Given the description of an element on the screen output the (x, y) to click on. 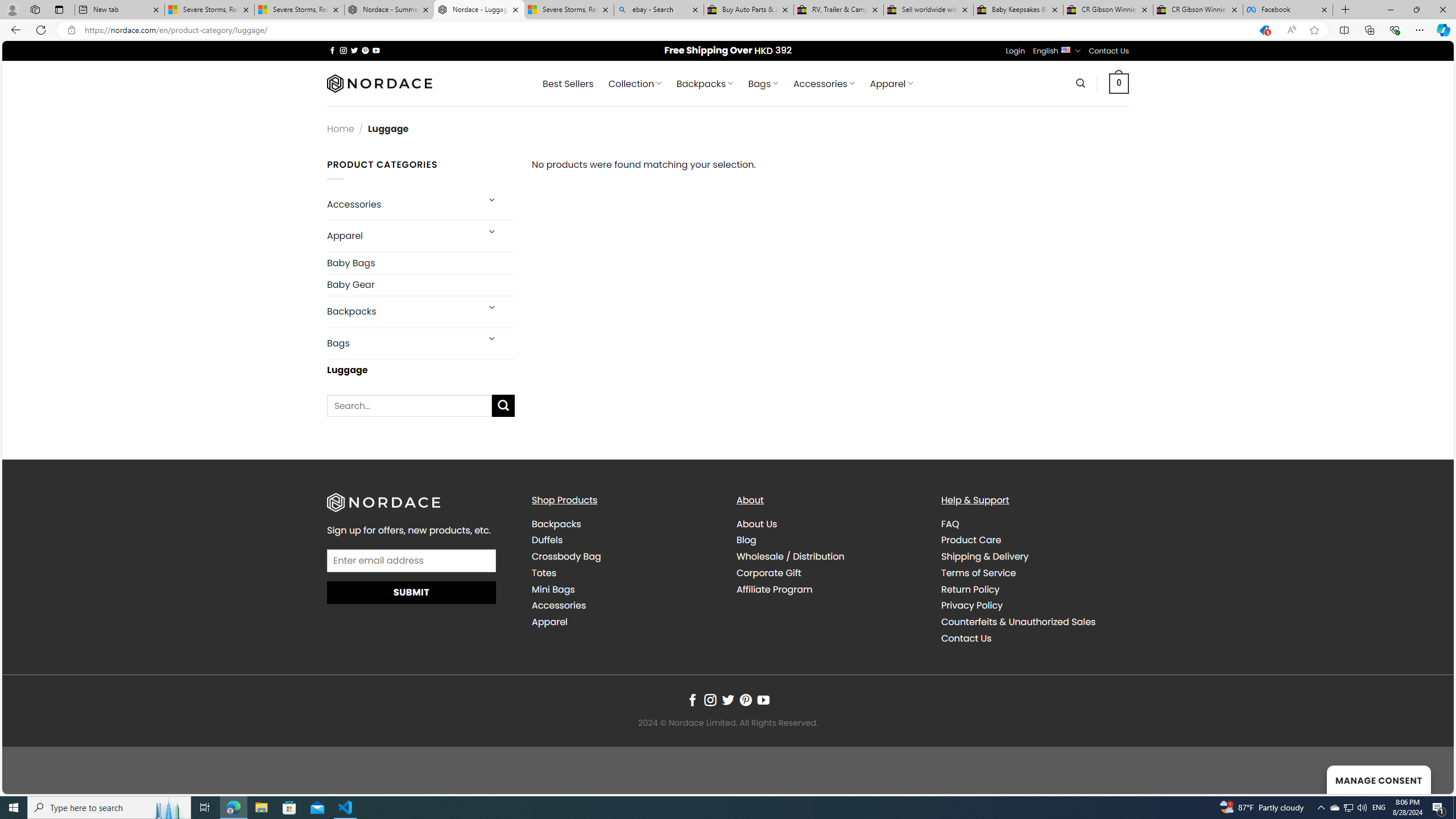
Backpacks (625, 523)
Login (1015, 50)
Read aloud this page (Ctrl+Shift+U) (1291, 29)
New tab (118, 9)
Add this page to favorites (Ctrl+D) (1314, 29)
FAQ (1034, 523)
Refresh (40, 29)
Privacy Policy (971, 605)
Go to top (1430, 777)
Search (1079, 83)
Accessories (625, 605)
Follow on Twitter (727, 700)
